Given the description of an element on the screen output the (x, y) to click on. 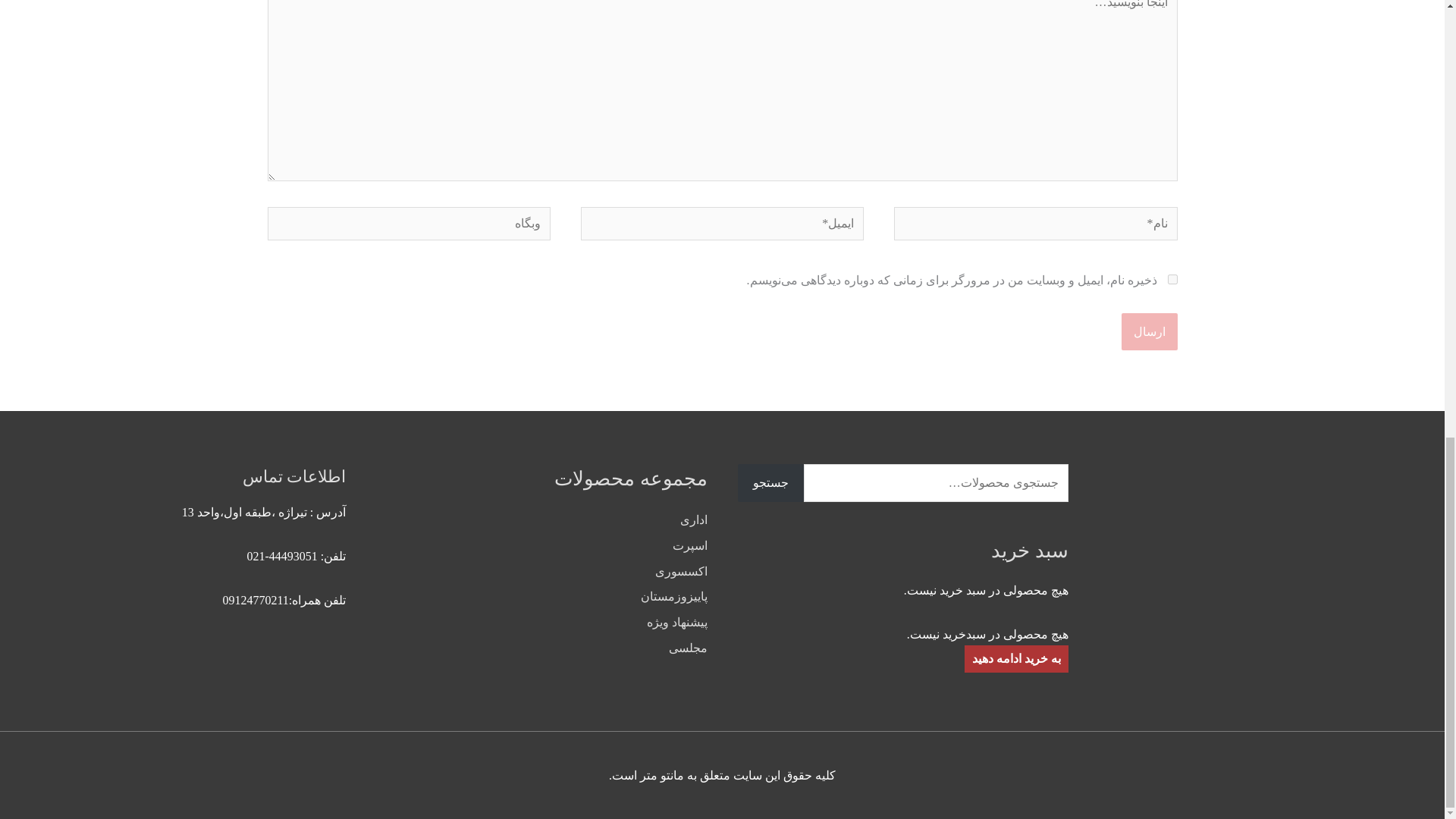
yes (1172, 279)
